Given the description of an element on the screen output the (x, y) to click on. 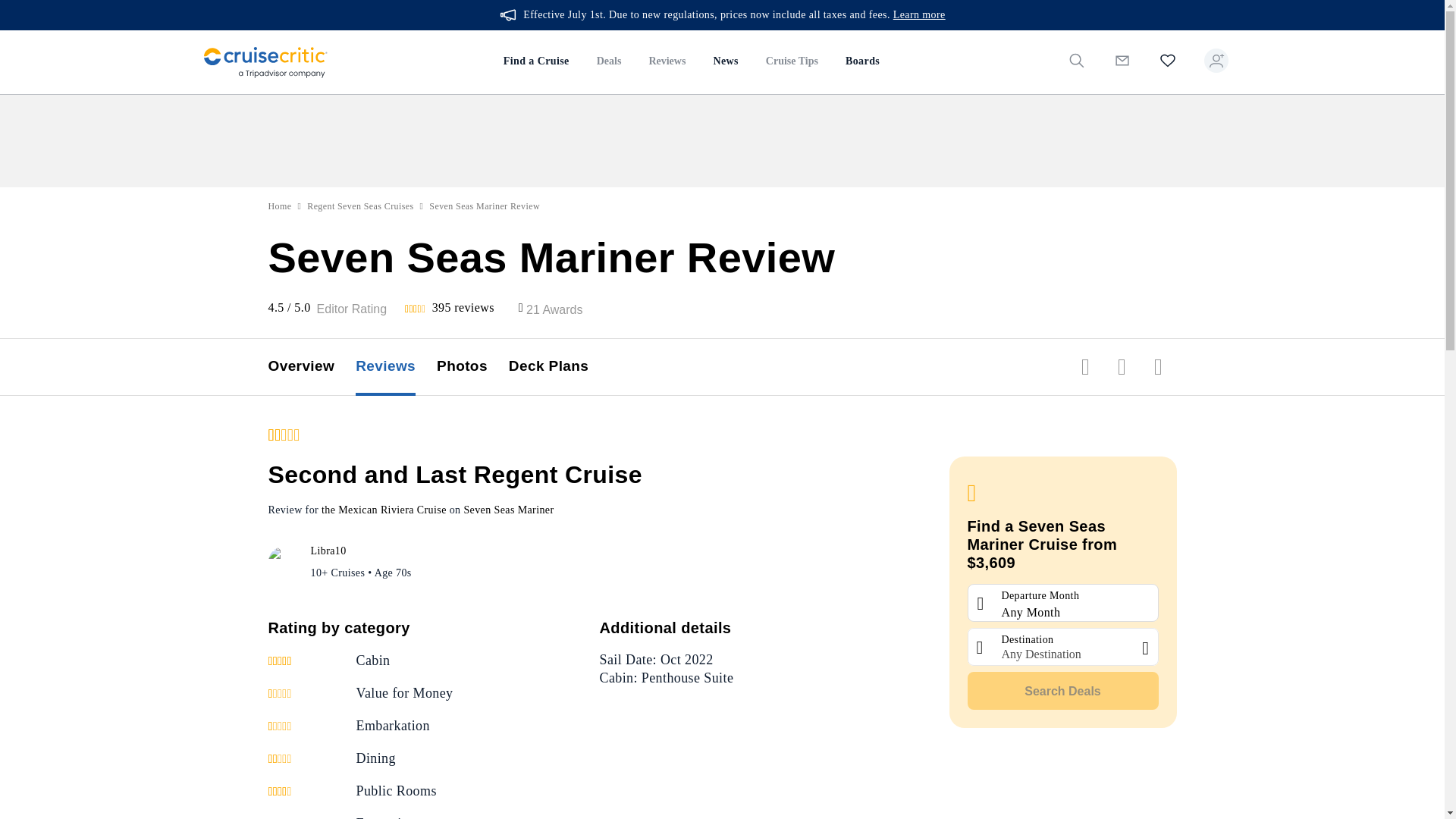
21 Awards (553, 309)
the Mexican Riviera Cruise (383, 509)
Seven Seas Mariner Review (484, 205)
Cruise Tips (791, 62)
395 reviews (463, 307)
Find a Cruise (536, 62)
Home (279, 205)
Regent Seven Seas Cruises (360, 205)
Reviews (666, 62)
Seven Seas Mariner (508, 509)
Learn more (918, 15)
Overview (311, 366)
Deck Plans (559, 366)
Boards (861, 62)
Editor Rating (352, 309)
